Given the description of an element on the screen output the (x, y) to click on. 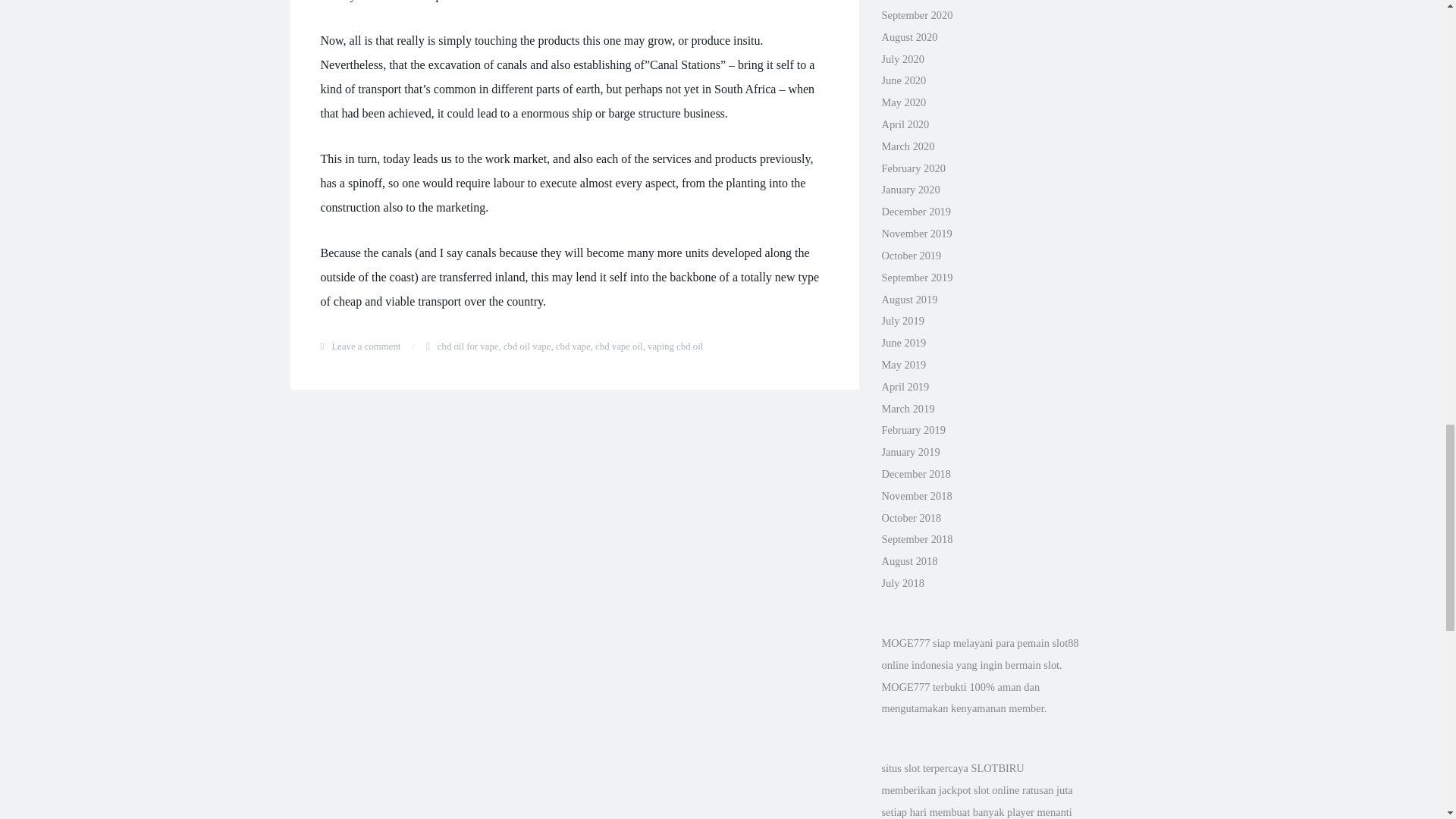
cbd oil for vape (468, 346)
cbd oil vape (527, 346)
cbd vape oil (619, 346)
cbd vape (573, 346)
vaping cbd oil (675, 346)
Leave a comment (365, 346)
